Given the description of an element on the screen output the (x, y) to click on. 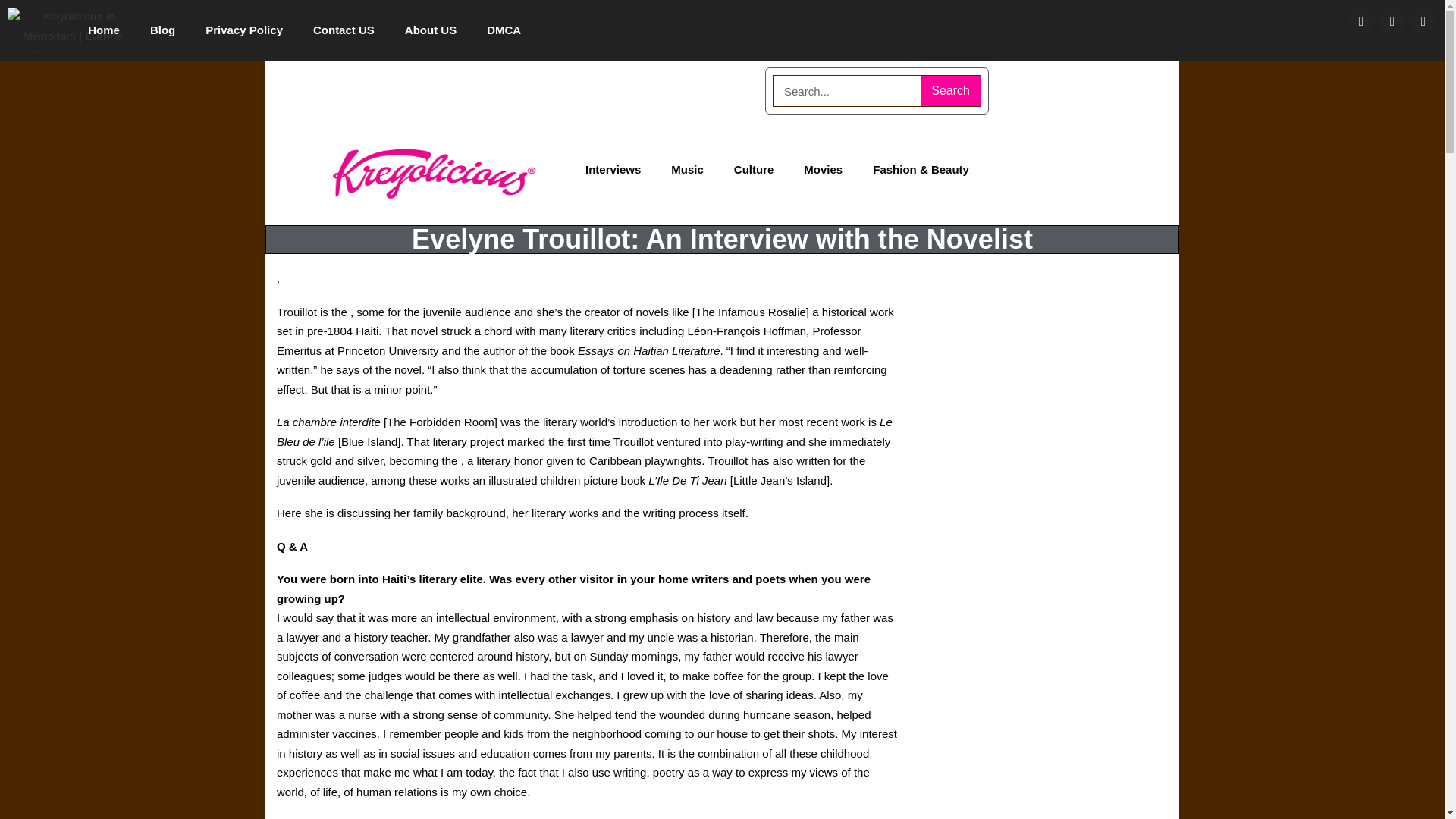
Contact US (344, 30)
DMCA (503, 30)
Interviews (613, 169)
Blog (162, 30)
Culture (754, 169)
About US (430, 30)
Home (103, 30)
Movies (823, 169)
Music (687, 169)
Privacy Policy (244, 30)
Search (949, 91)
